Given the description of an element on the screen output the (x, y) to click on. 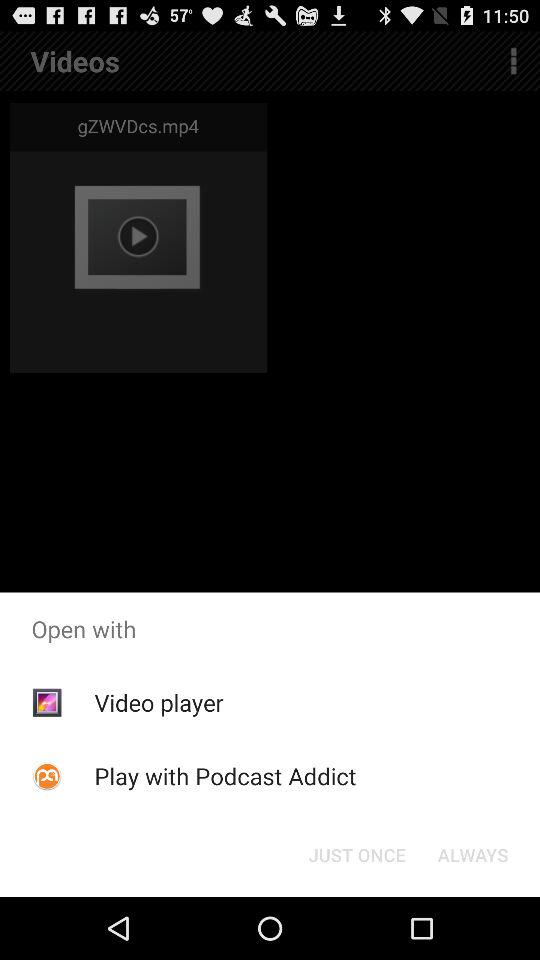
select just once (356, 854)
